Given the description of an element on the screen output the (x, y) to click on. 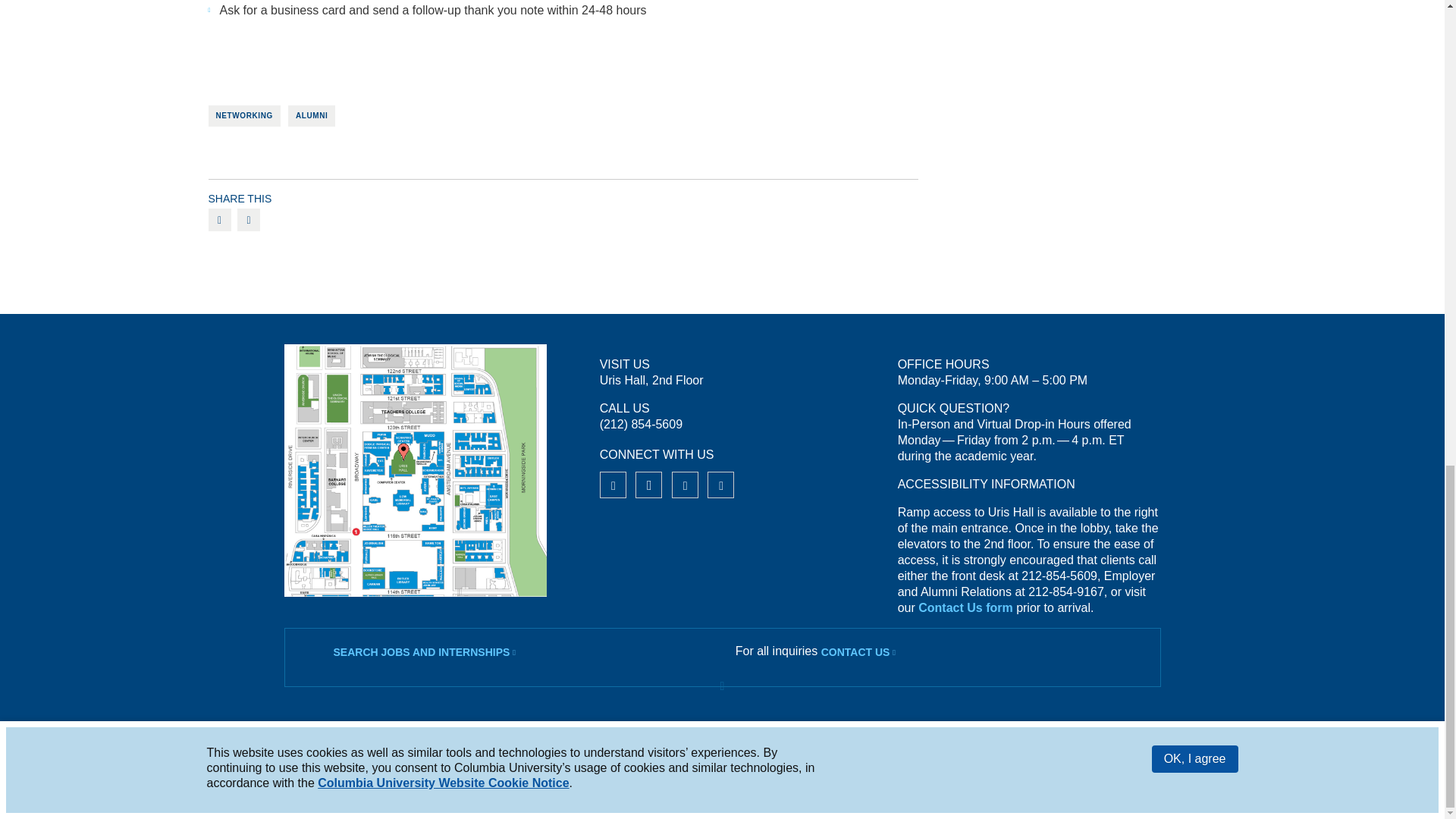
Linkedin (720, 484)
Share on Facebook (219, 219)
Share this on Twitter (248, 219)
Twitter (684, 484)
Instagram (648, 484)
